Given the description of an element on the screen output the (x, y) to click on. 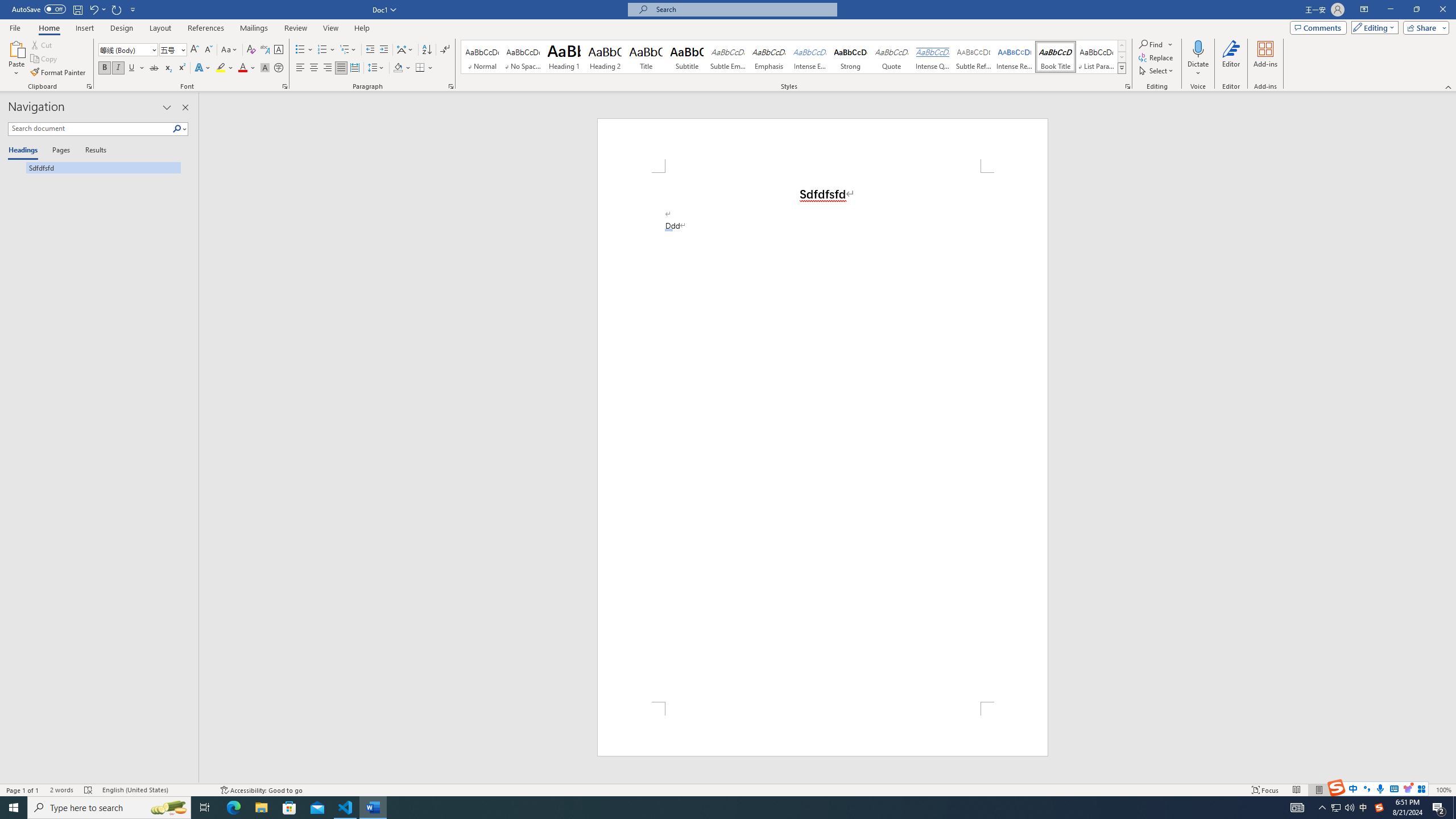
Customize Quick Access Toolbar (133, 9)
Class: MsoCommandBar (728, 789)
Review (295, 28)
Insert (83, 28)
Editor (1231, 58)
Accessibility Checker Accessibility: Good to go (261, 790)
Microsoft search (742, 9)
Paste (16, 48)
Undo Apply Quick Style (92, 9)
Clear Formatting (250, 49)
Restore Down (1416, 9)
Action: Undo Auto Actions (668, 229)
Distributed (354, 67)
Italic (118, 67)
Design (122, 28)
